Given the description of an element on the screen output the (x, y) to click on. 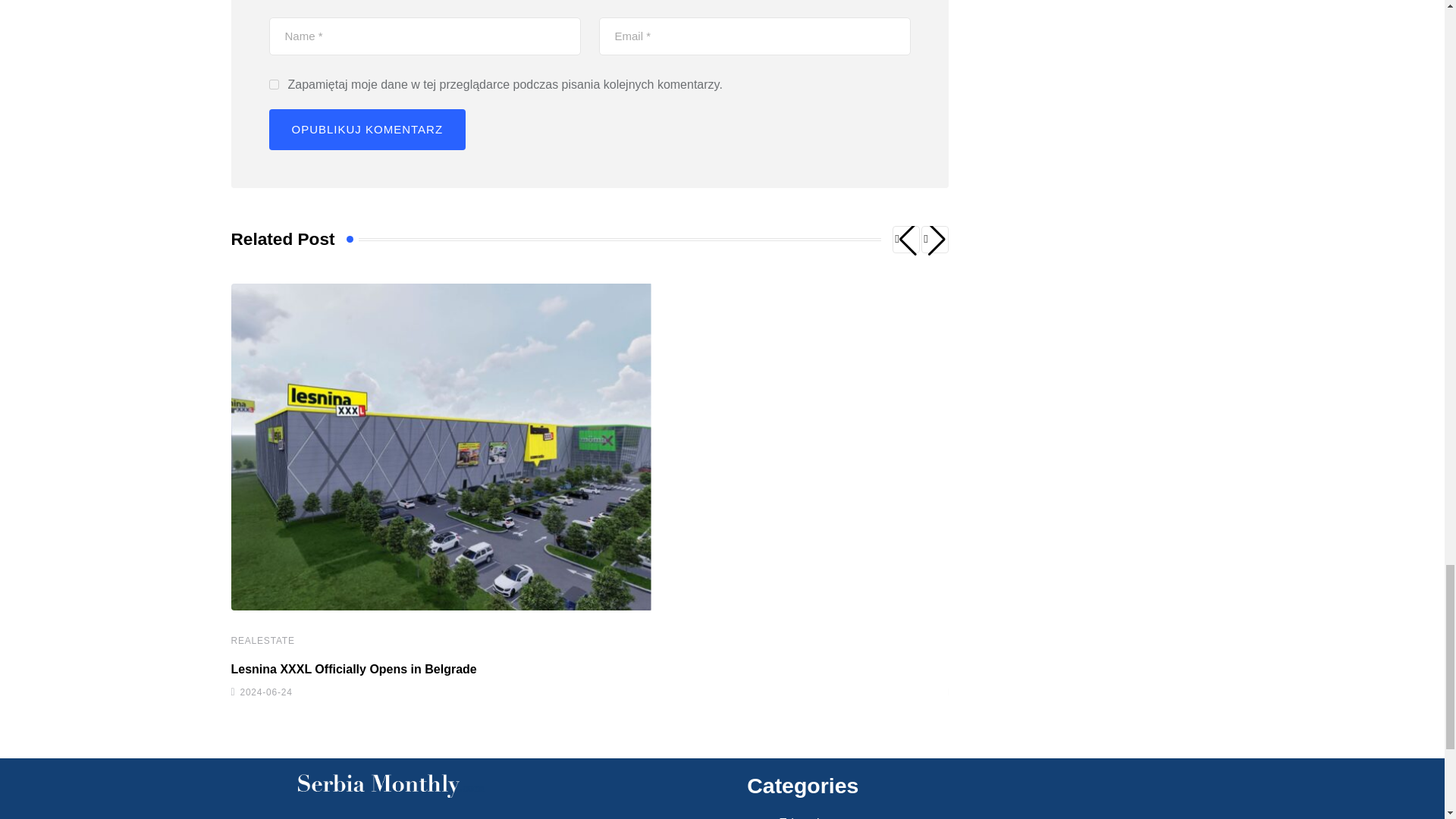
Lesnina XXXL Officially Opens in Belgrade (353, 668)
yes (272, 84)
REALESTATE (262, 640)
Opublikuj komentarz (366, 128)
Opublikuj komentarz (366, 128)
